Given the description of an element on the screen output the (x, y) to click on. 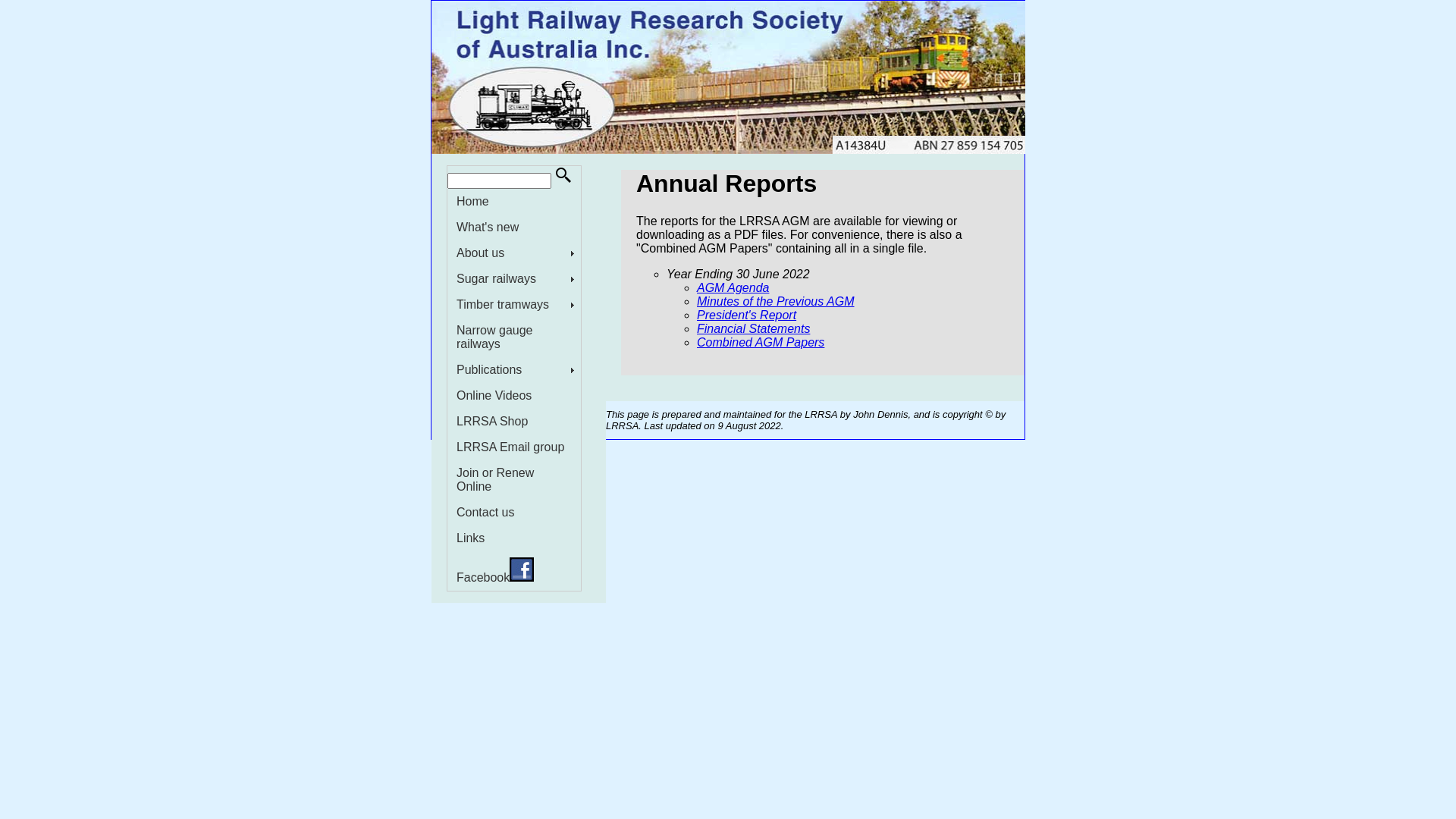
LRRSA Email group Element type: text (513, 447)
Publications Element type: text (513, 369)
President's Report Element type: text (746, 314)
Home Element type: text (513, 201)
About us Element type: text (513, 253)
Contact us Element type: text (513, 512)
AGM Agenda Element type: text (732, 287)
What's new Element type: text (513, 227)
Narrow gauge railways Element type: text (513, 337)
Links Element type: text (513, 538)
Combined AGM Papers Element type: text (760, 341)
Sugar railways Element type: text (513, 278)
LRRSA Shop Element type: text (513, 421)
Financial Statements Element type: text (752, 328)
Facebook Element type: text (513, 570)
Timber tramways Element type: text (513, 304)
Online Videos Element type: text (513, 395)
Join or Renew Online Element type: text (513, 479)
Minutes of the Previous AGM Element type: text (775, 300)
